Given the description of an element on the screen output the (x, y) to click on. 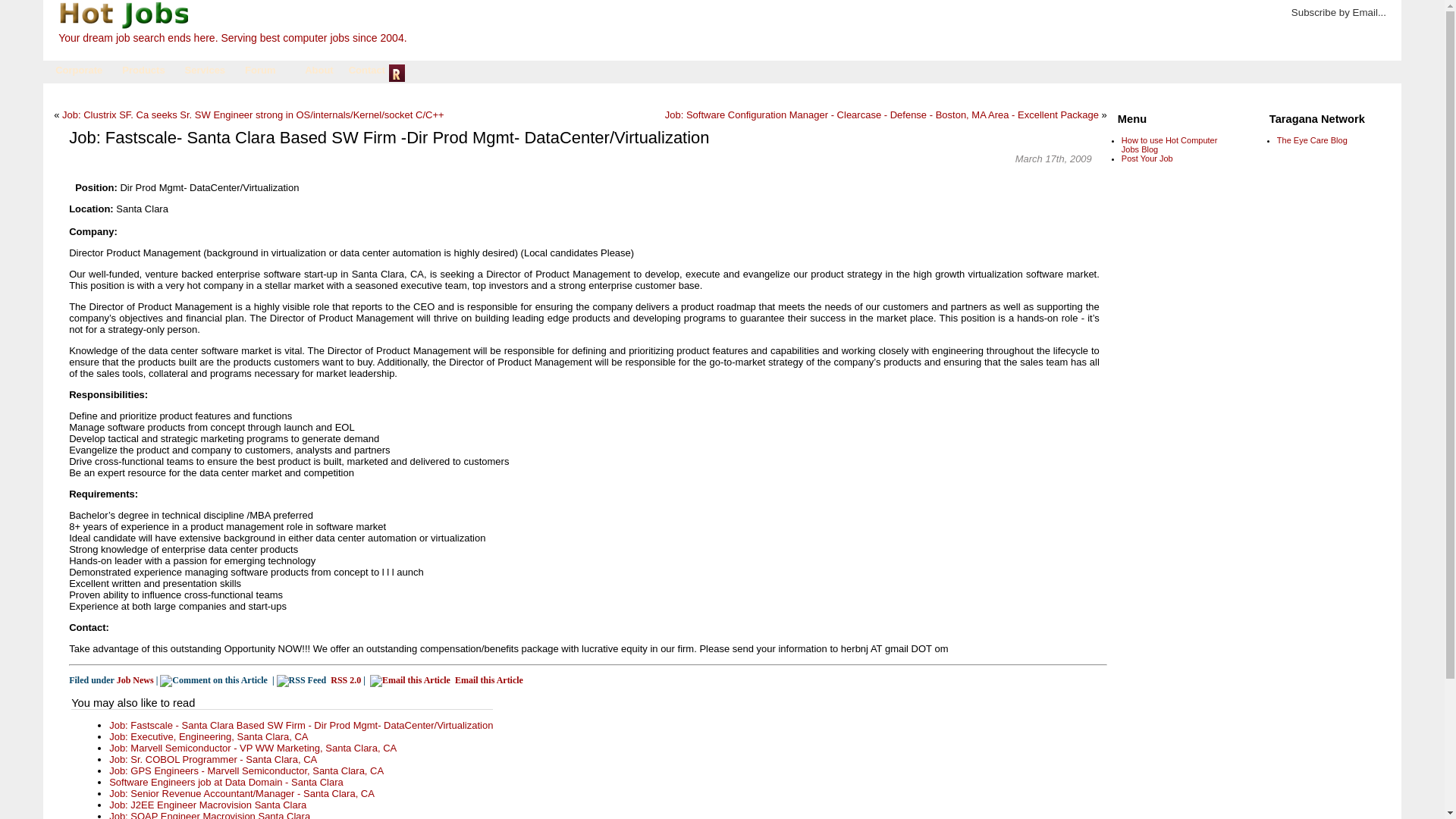
About (319, 73)
Products (144, 73)
Corporate (80, 73)
Corporate (80, 73)
  Email this Article (445, 679)
About (319, 73)
View all posts in Job News (135, 679)
Job: J2EE Engineer Macrovision Santa Clara (207, 804)
Job: SOAP Engineer Macrovision Santa Clara (209, 814)
Post Your Job (1147, 157)
Permanent Link: Job: Executive, Engineering, Santa Clara, CA (208, 736)
Services (206, 73)
Services (206, 73)
Job: Executive, Engineering, Santa Clara, CA (208, 736)
Contact (366, 73)
